Given the description of an element on the screen output the (x, y) to click on. 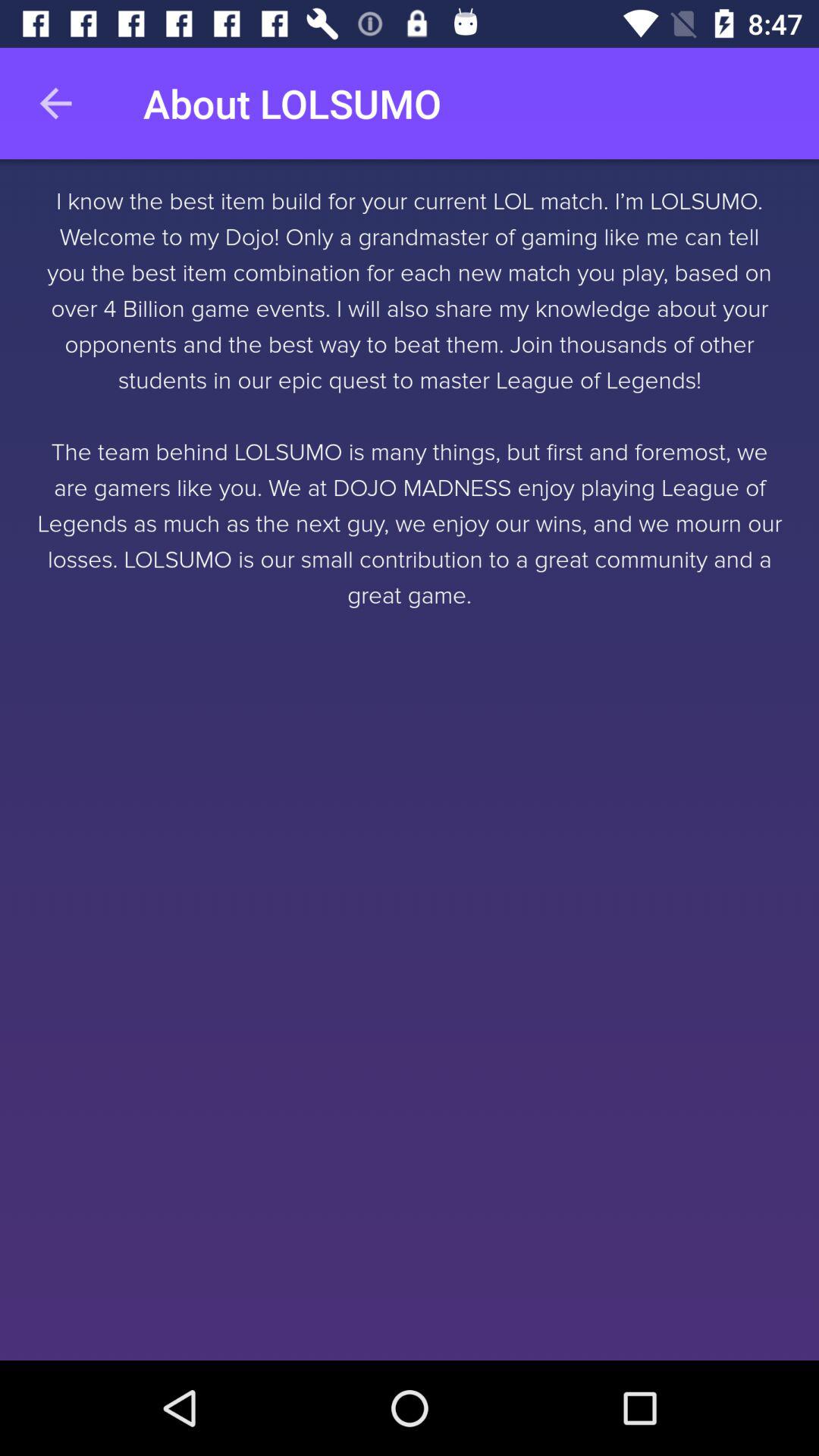
choose the icon above the i know the (55, 103)
